Given the description of an element on the screen output the (x, y) to click on. 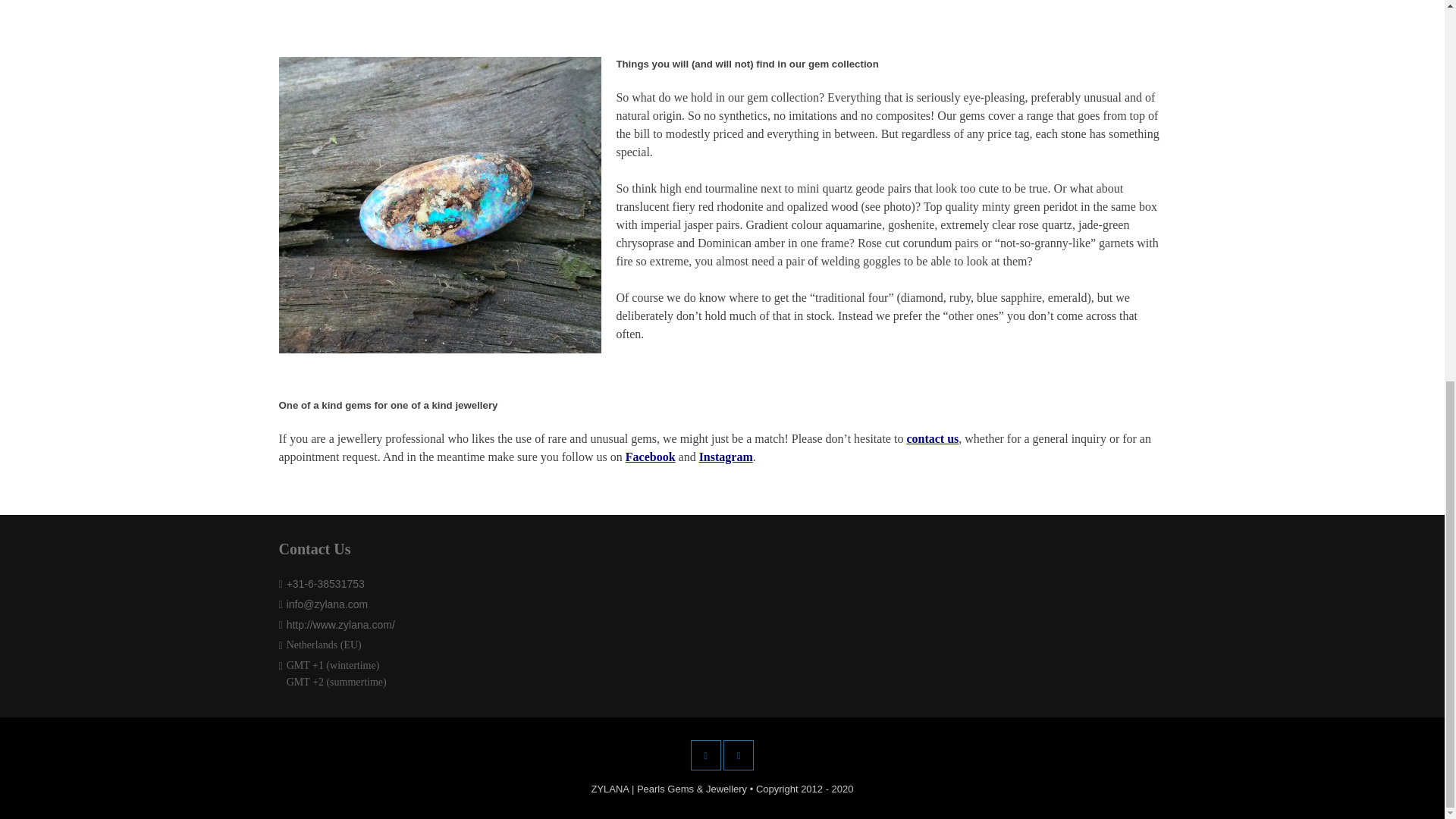
contact us (931, 438)
instagram (738, 755)
Instagram (725, 456)
Facebook (650, 456)
Facebook (705, 755)
